Given the description of an element on the screen output the (x, y) to click on. 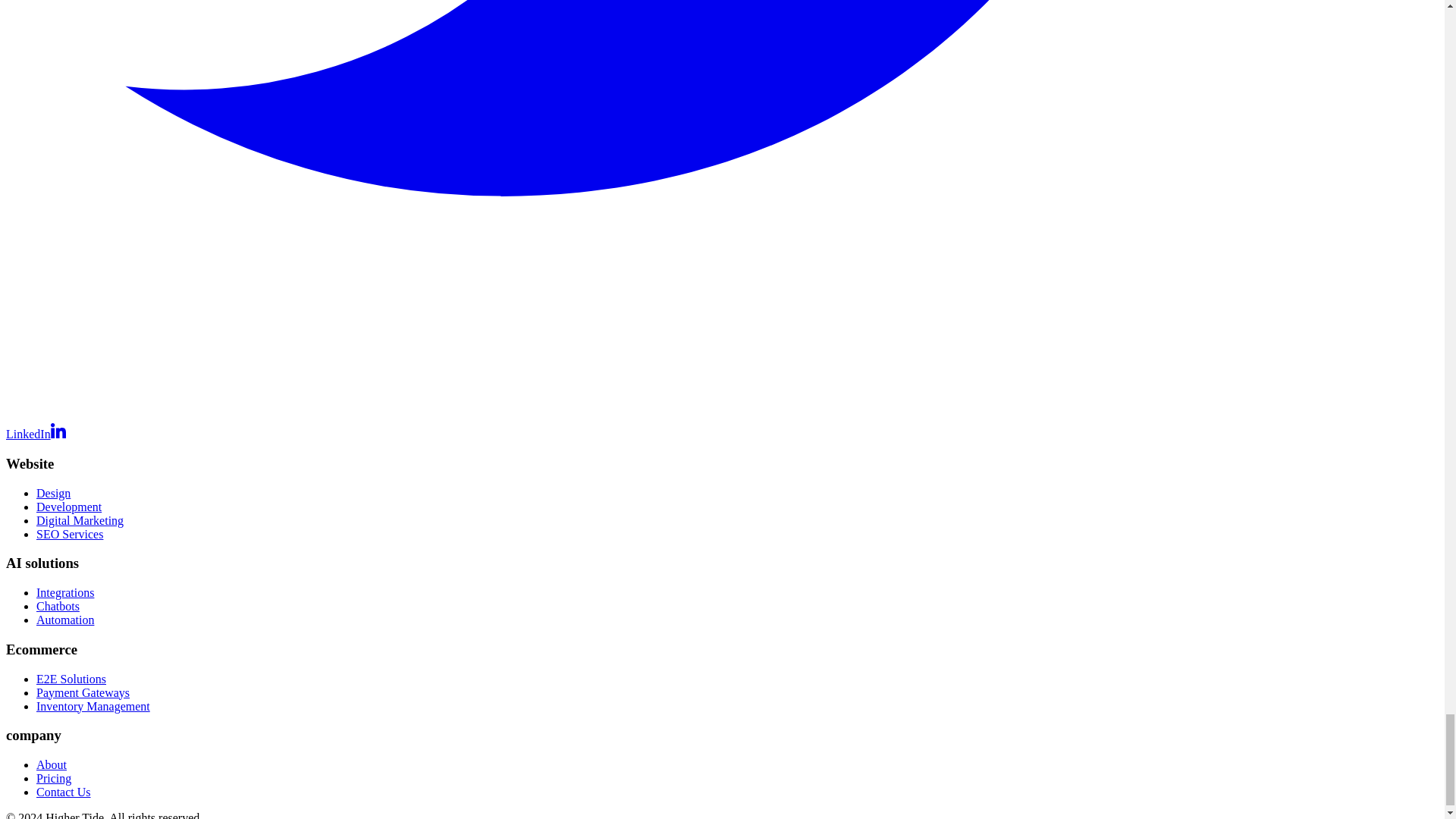
LinkedIn (35, 433)
Design (52, 492)
